Given the description of an element on the screen output the (x, y) to click on. 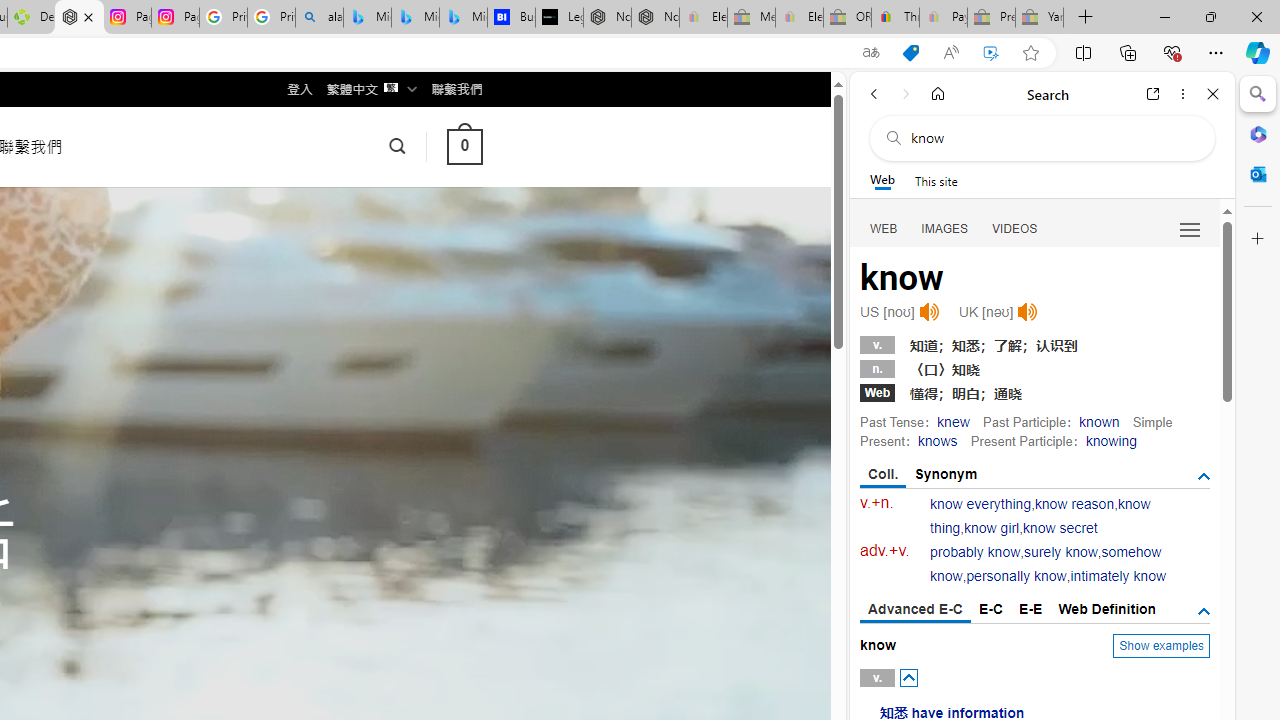
Microsoft Bing Travel - Flights from Hong Kong to Bangkok (367, 17)
Coll. (883, 475)
Press Room - eBay Inc. - Sleeping (991, 17)
Web Definition (1106, 608)
Search the web (1051, 137)
intimately know (1118, 575)
